Given the description of an element on the screen output the (x, y) to click on. 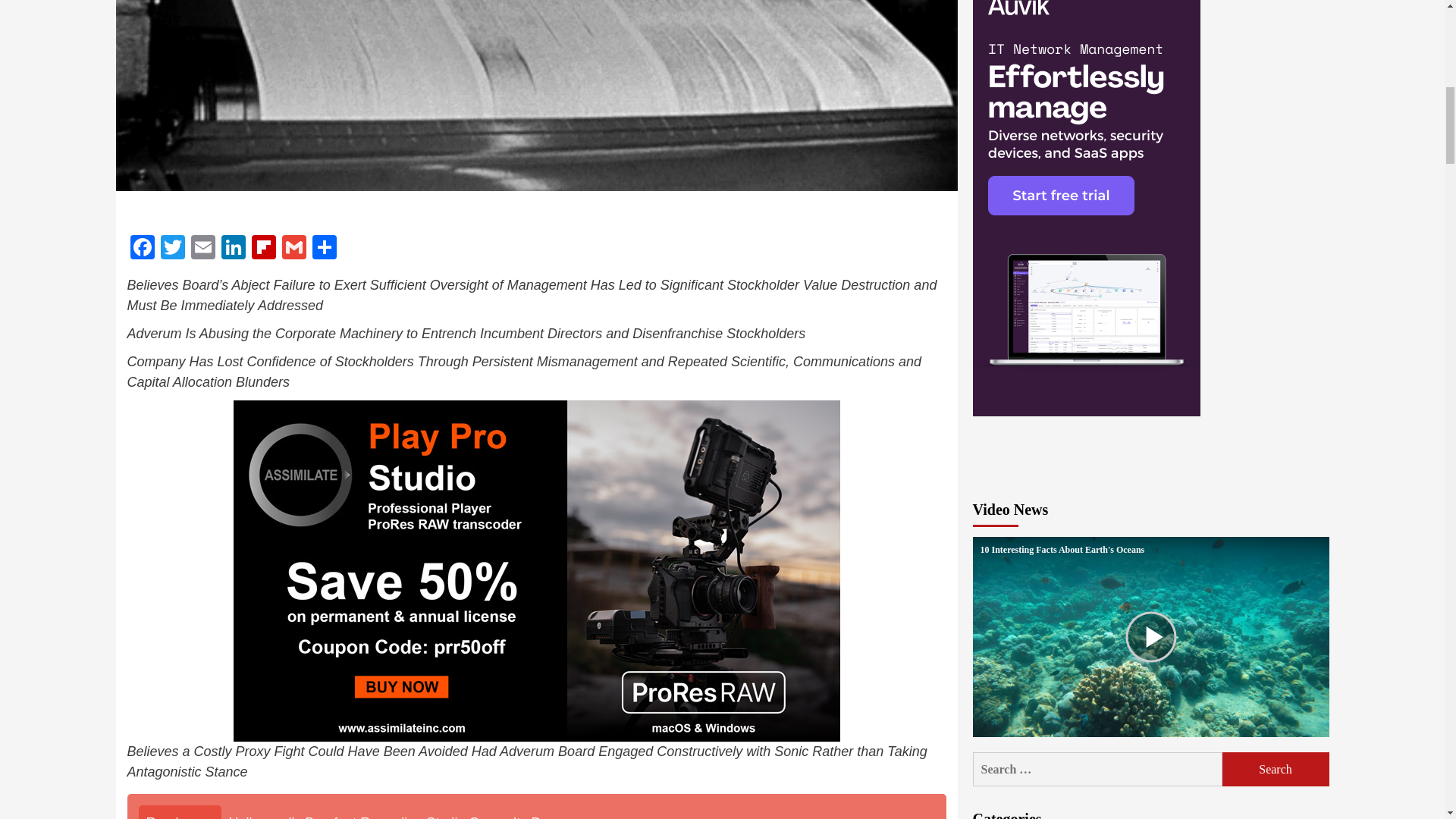
LinkedIn (233, 248)
Twitter (172, 248)
Facebook (142, 248)
Facebook (142, 248)
Twitter (172, 248)
Gmail (293, 248)
Flipboard (263, 248)
LinkedIn (233, 248)
Flipboard (263, 248)
Search (1276, 769)
Email (202, 248)
Search (1276, 769)
Gmail (293, 248)
Email (202, 248)
